Given the description of an element on the screen output the (x, y) to click on. 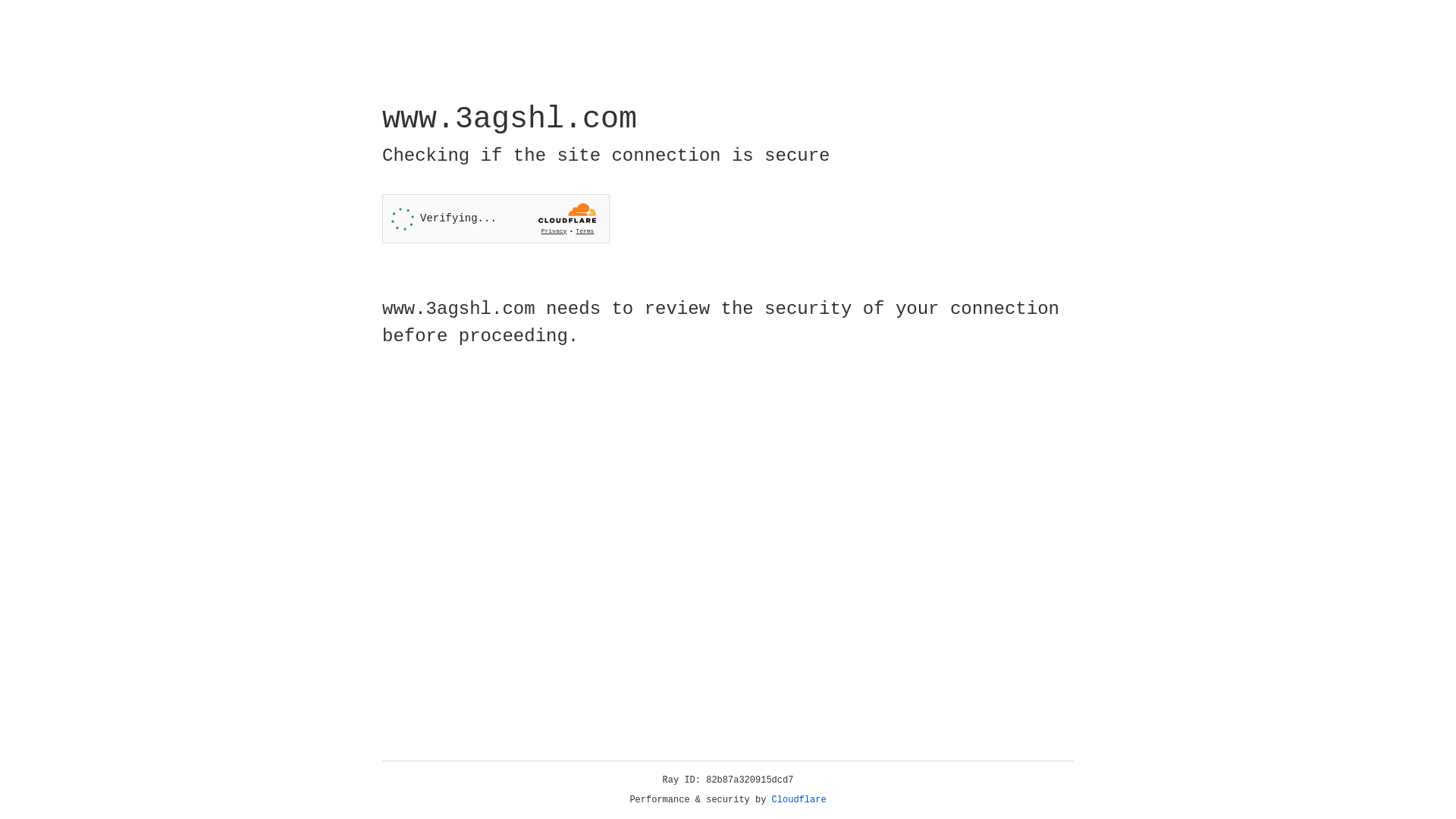
Cloudflare Element type: text (798, 799)
Widget containing a Cloudflare security challenge Element type: hover (495, 218)
